Given the description of an element on the screen output the (x, y) to click on. 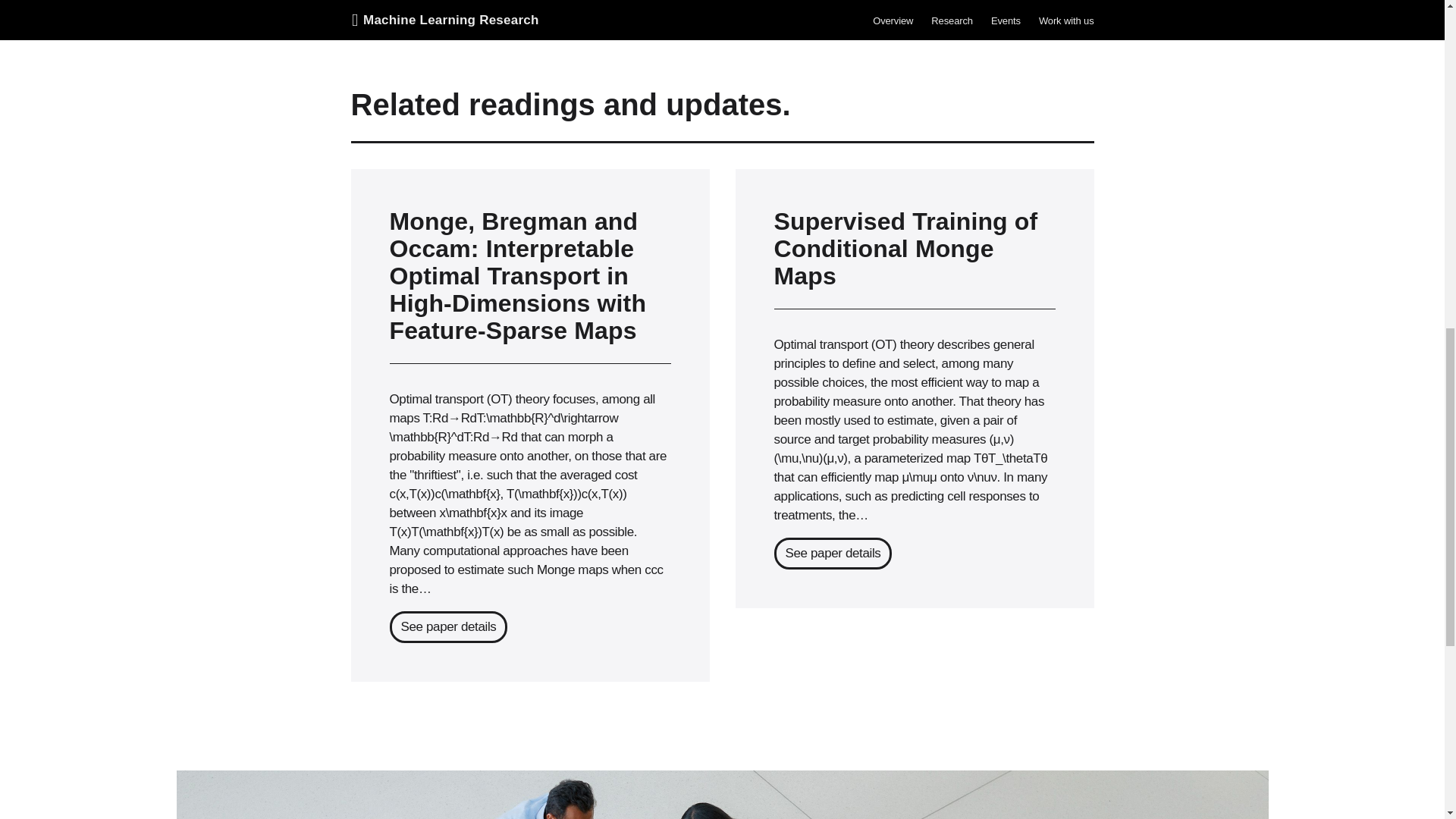
Supervised Training of Conditional Monge Maps (913, 248)
See paper details (832, 553)
See paper details (449, 626)
